Given the description of an element on the screen output the (x, y) to click on. 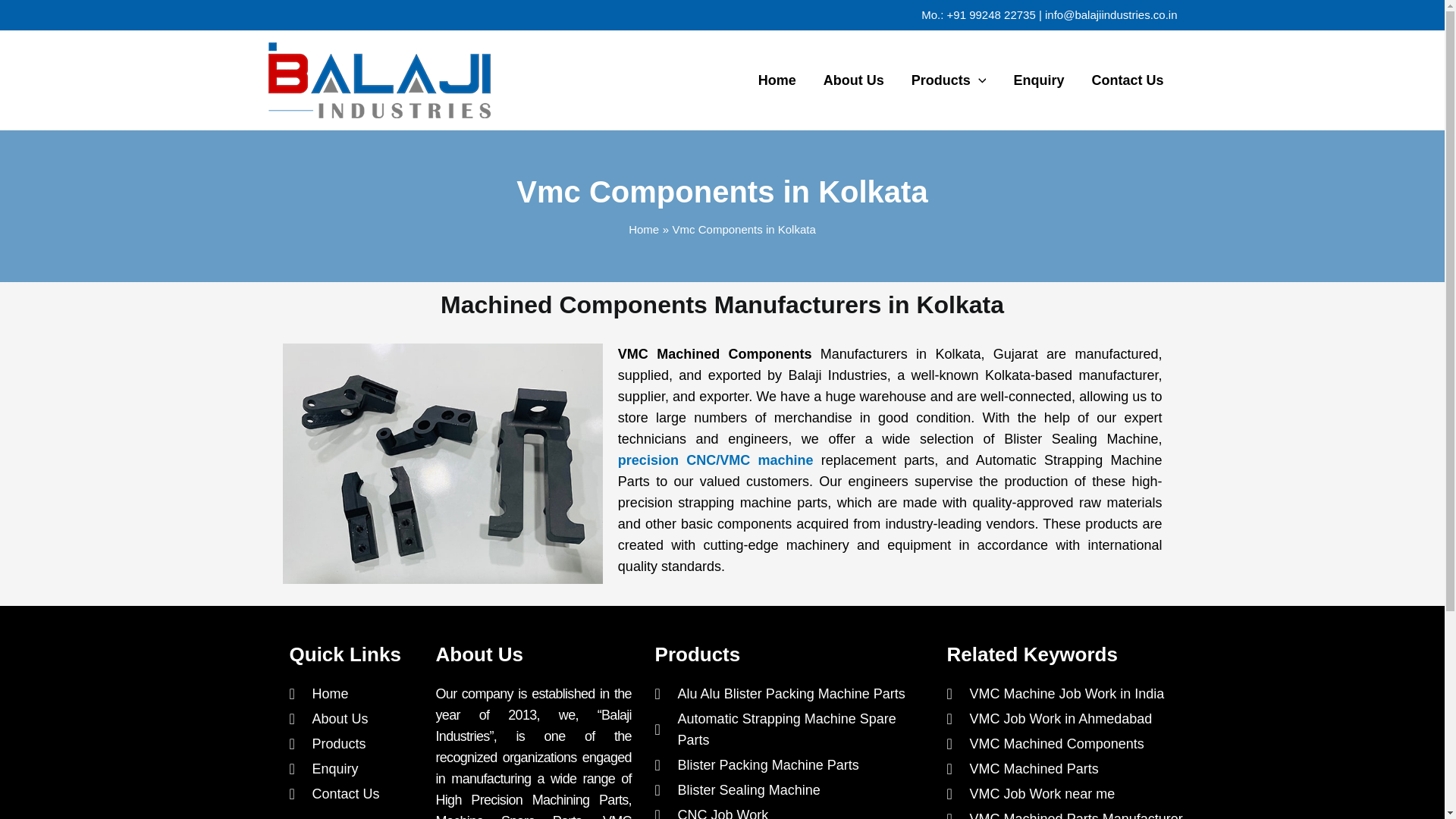
Home (643, 228)
About Us (853, 80)
Contact Us (1126, 80)
Home (354, 693)
Home (776, 80)
Enquiry (1037, 80)
About Us (354, 718)
Products (949, 80)
